Given the description of an element on the screen output the (x, y) to click on. 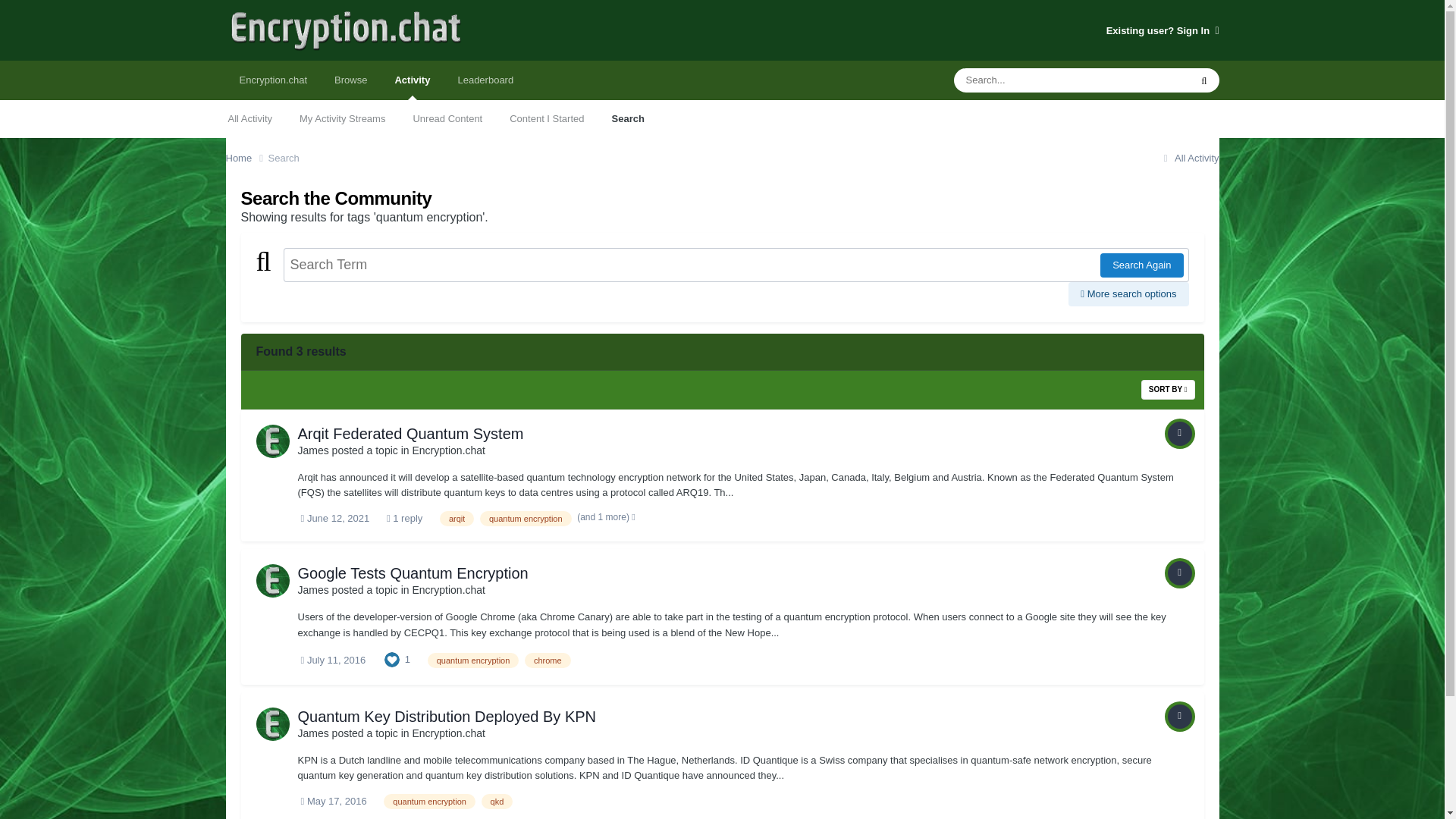
Topic (1179, 573)
Activity (412, 79)
All Activity (249, 118)
More search options (1128, 293)
All Activity (1188, 157)
Go to James's profile (313, 450)
Find other content tagged with 'arqit' (456, 518)
Go to James's profile (272, 580)
Find other content tagged with 'chrome' (547, 660)
Topic (1179, 433)
Like (391, 659)
Go to James's profile (313, 589)
Unread Content (447, 118)
Encryption.chat (273, 79)
Browse (350, 79)
